Given the description of an element on the screen output the (x, y) to click on. 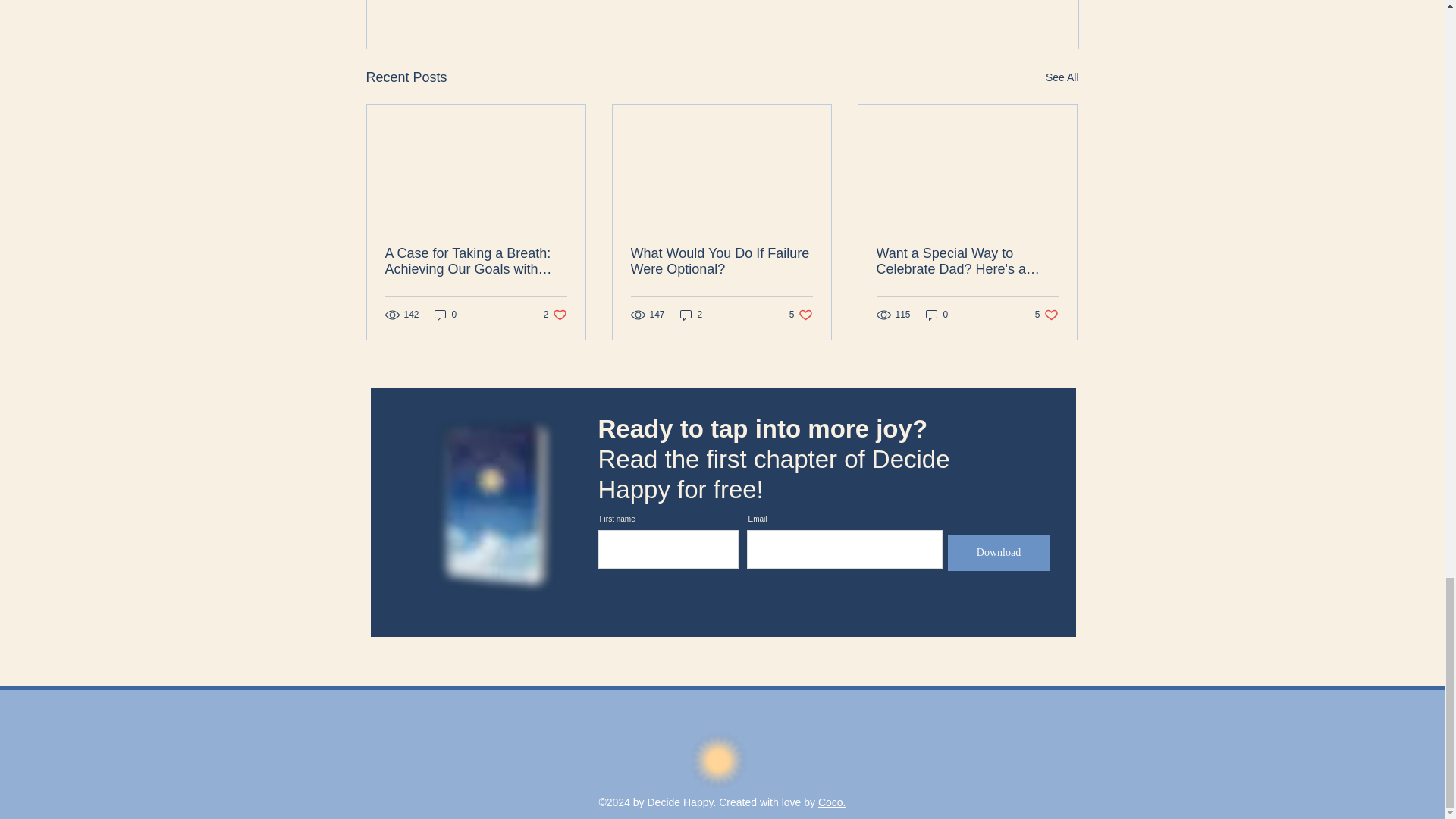
0 (937, 314)
A Case for Taking a Breath: Achieving Our Goals with Grace (476, 261)
0 (445, 314)
Want a Special Way to Celebrate Dad? Here's a Favorite. (967, 261)
2 (987, 1)
What Would You Do If Failure Were Optional? (555, 314)
See All (691, 314)
